Given the description of an element on the screen output the (x, y) to click on. 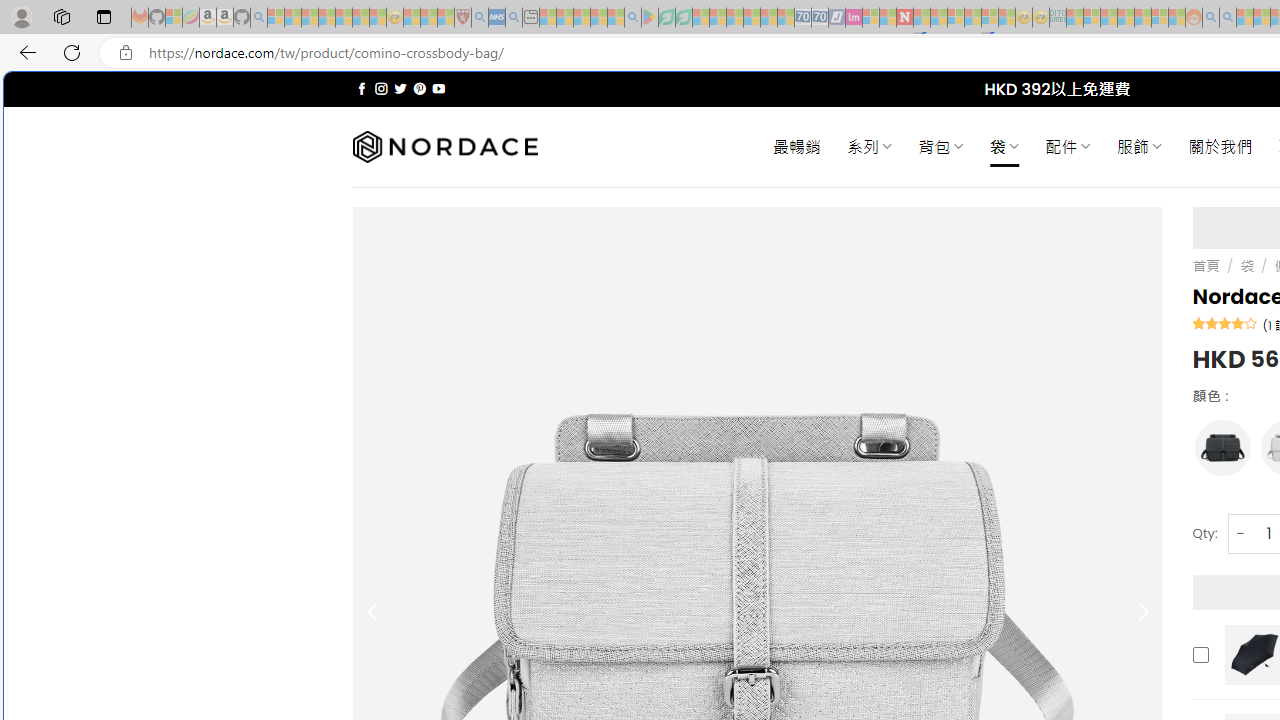
Follow on YouTube (438, 88)
Follow on Twitter (400, 88)
Follow on Pinterest (419, 88)
Pets - MSN - Sleeping (598, 17)
